Given the description of an element on the screen output the (x, y) to click on. 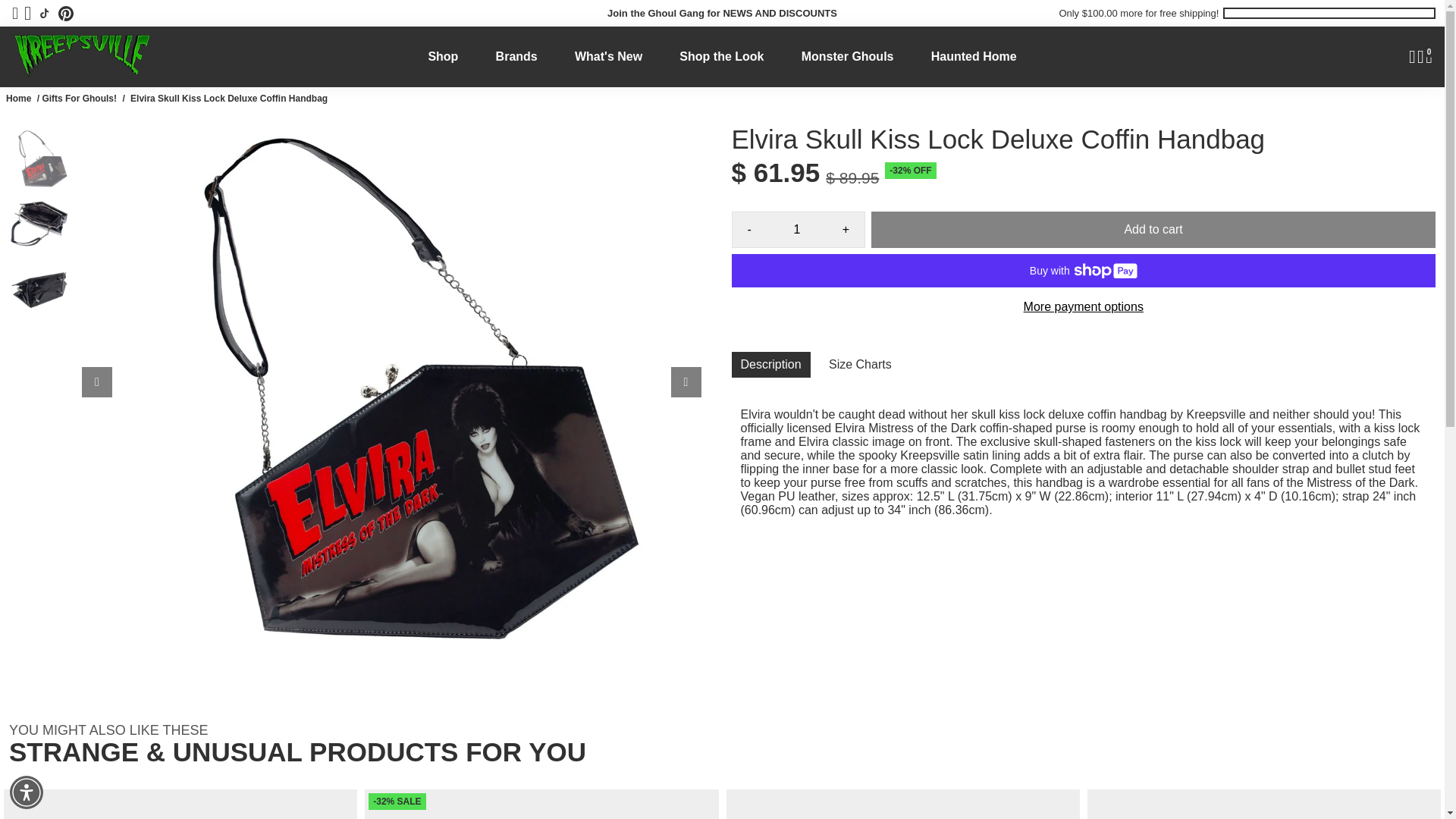
Shop (442, 56)
Accessibility Menu (26, 792)
1 (797, 229)
Join the Ghoul Gang for NEWS AND DISCOUNTS (722, 12)
Home (17, 98)
